Given the description of an element on the screen output the (x, y) to click on. 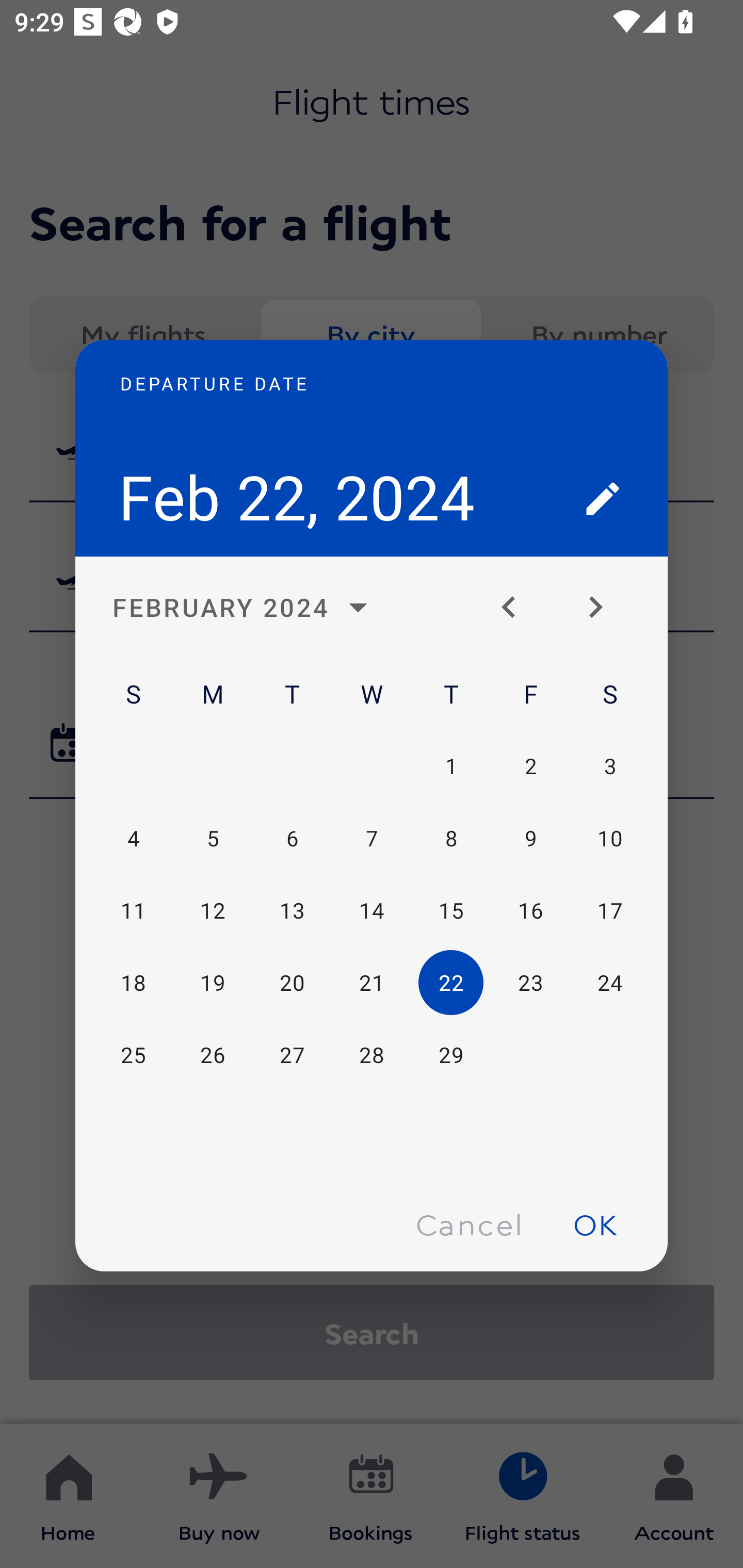
Switch to text input mode (602, 498)
FEBRUARY 2024 (245, 607)
Change to previous month (515, 607)
Change to next month (602, 607)
1 Thu, Feb 1 (450, 765)
2 Fri, Feb 2 (530, 765)
3 Sat, Feb 3 (609, 765)
4 Sun, Feb 4 (133, 838)
5 Mon, Feb 5 (212, 838)
6 Tue, Feb 6 (291, 838)
7 Wed, Feb 7 (371, 838)
8 Thu, Feb 8 (450, 838)
9 Fri, Feb 9 (530, 838)
10 Sat, Feb 10 (609, 838)
11 Sun, Feb 11 (133, 910)
12 Mon, Feb 12 (212, 910)
13 Tue, Feb 13 (291, 910)
14 Wed, Feb 14 (371, 910)
15 Thu, Feb 15 (450, 910)
16 Fri, Feb 16 (530, 910)
17 Sat, Feb 17 (609, 910)
18 Sun, Feb 18 (133, 983)
19 Mon, Feb 19 (212, 983)
20 Tue, Feb 20 (291, 983)
21 Wed, Feb 21 (371, 983)
22 Today Thu, Feb 22 (450, 983)
23 Fri, Feb 23 (530, 983)
24 Sat, Feb 24 (609, 983)
25 Sun, Feb 25 (133, 1055)
26 Mon, Feb 26 (212, 1055)
27 Tue, Feb 27 (291, 1055)
28 Wed, Feb 28 (371, 1055)
29 Thu, Feb 29 (450, 1055)
Cancel (468, 1224)
OK null, OK (595, 1224)
